Given the description of an element on the screen output the (x, y) to click on. 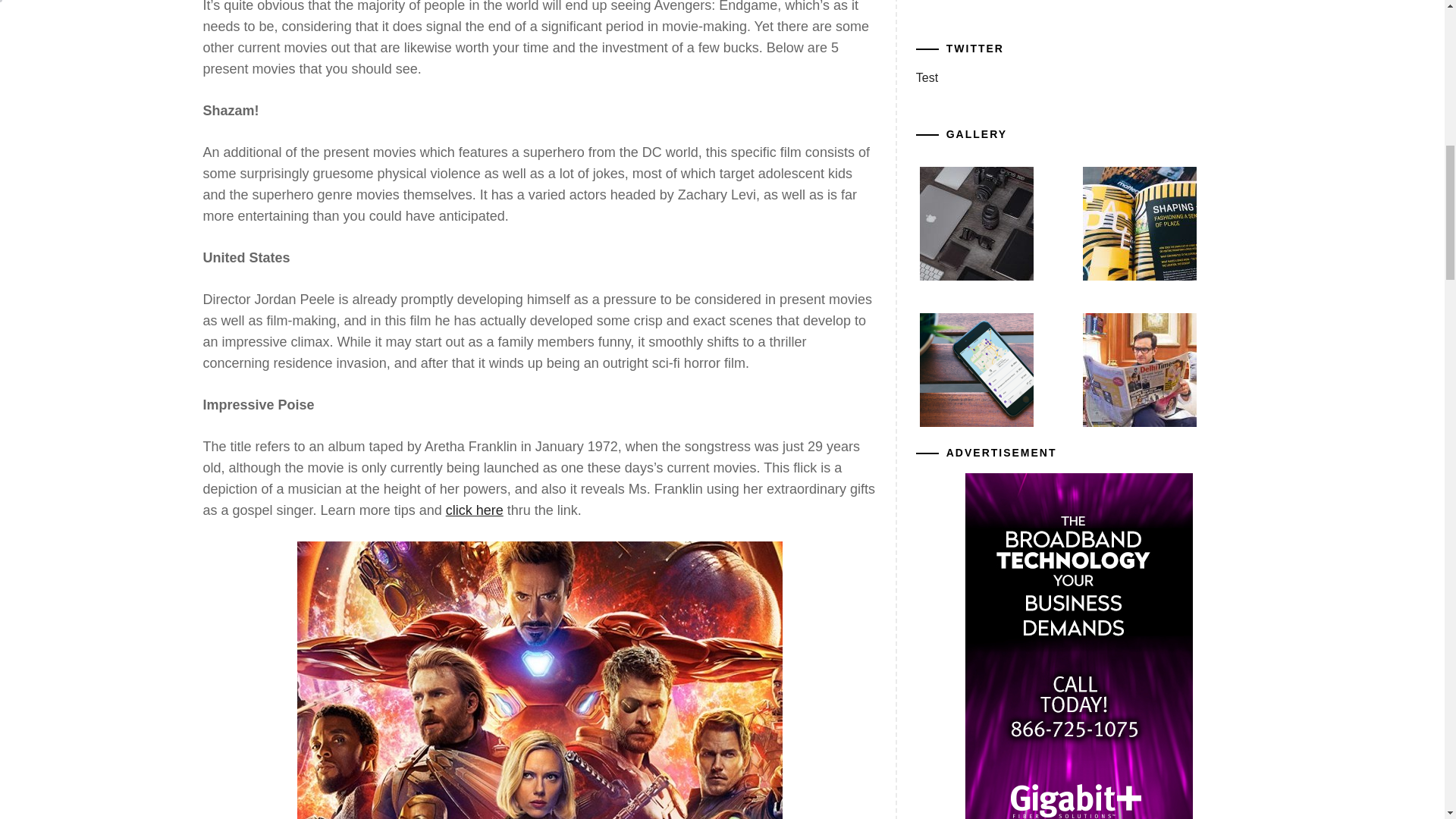
click here (474, 509)
